Given the description of an element on the screen output the (x, y) to click on. 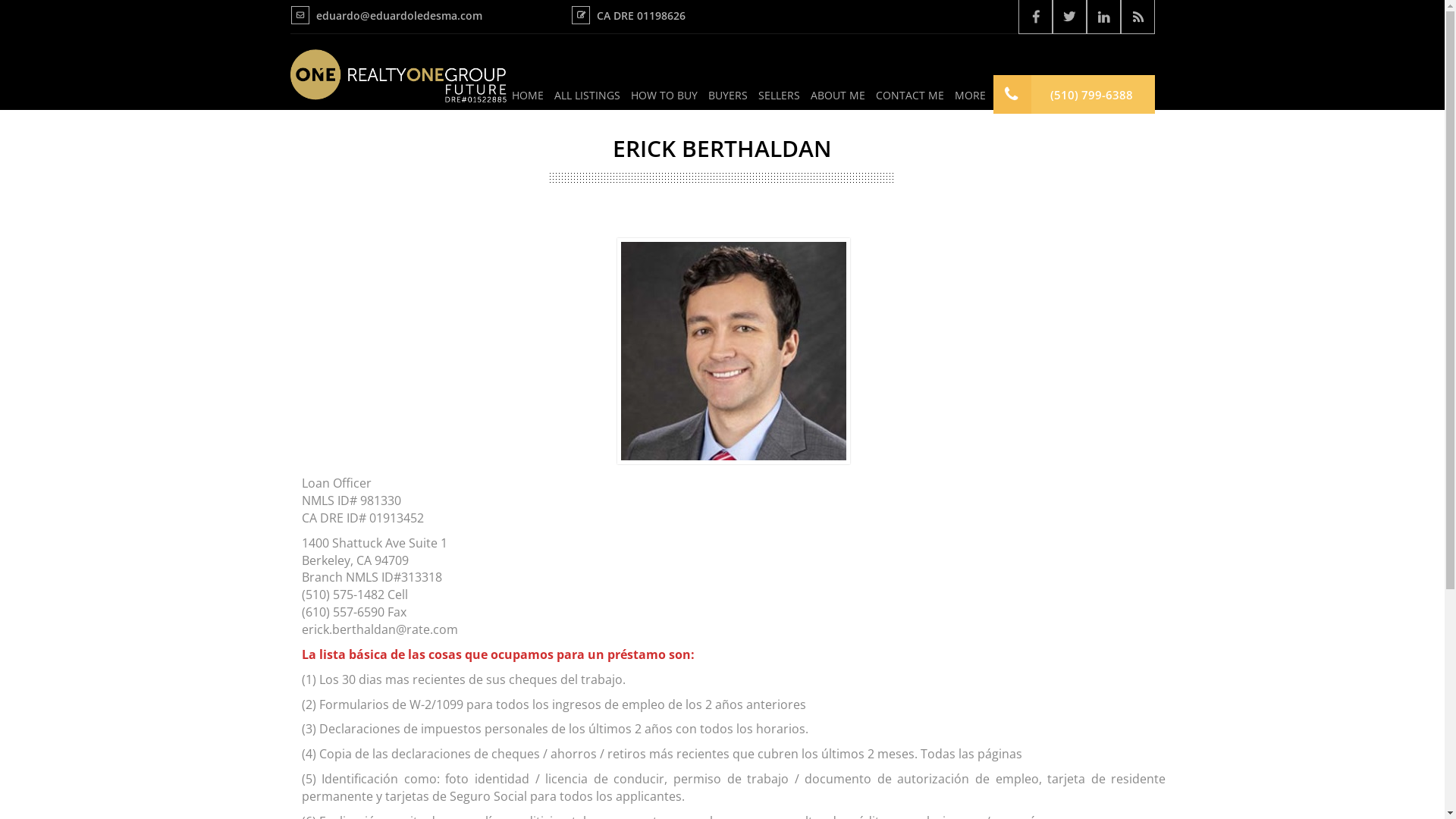
ABOUT ME Element type: text (837, 93)
ALL LISTINGS Element type: text (587, 93)
Skip to content Element type: text (0, 0)
SELLERS Element type: text (778, 93)
HOME Element type: text (527, 93)
BUYERS Element type: text (727, 93)
MORE Element type: text (970, 93)
CONTACT ME Element type: text (909, 93)
HOW TO BUY Element type: text (663, 93)
